Given the description of an element on the screen output the (x, y) to click on. 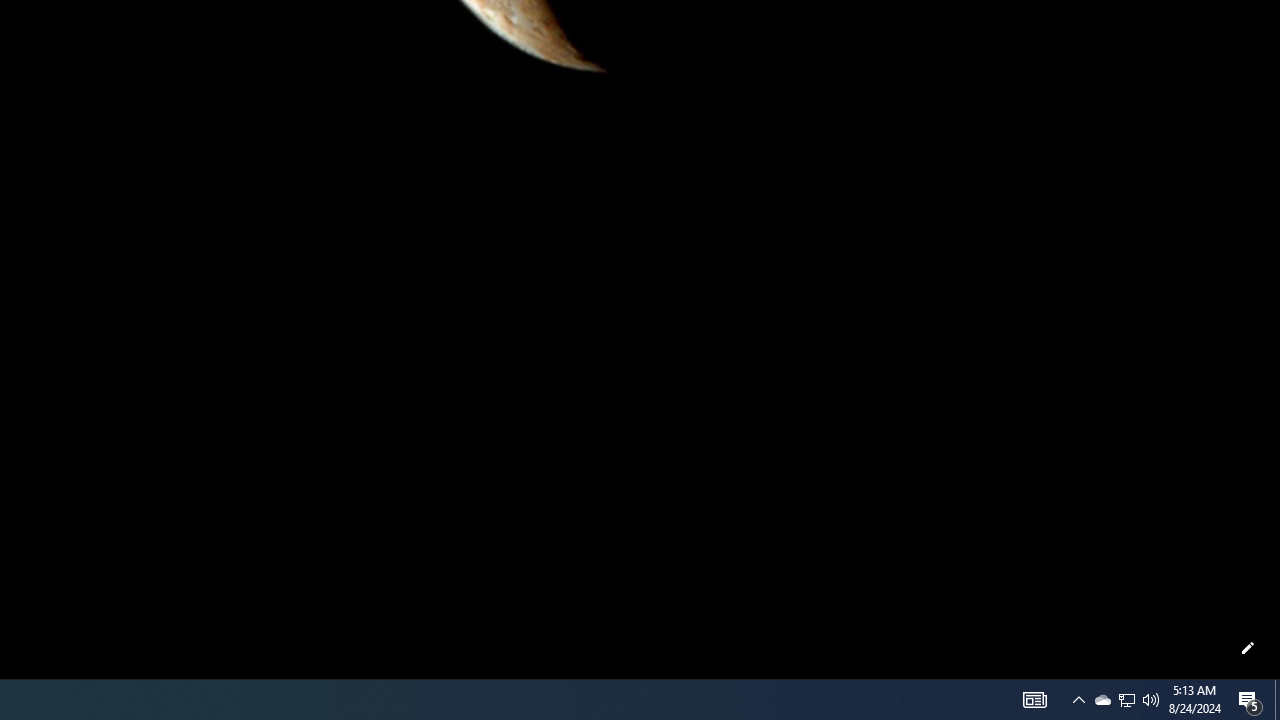
Customize this page (1247, 647)
